Given the description of an element on the screen output the (x, y) to click on. 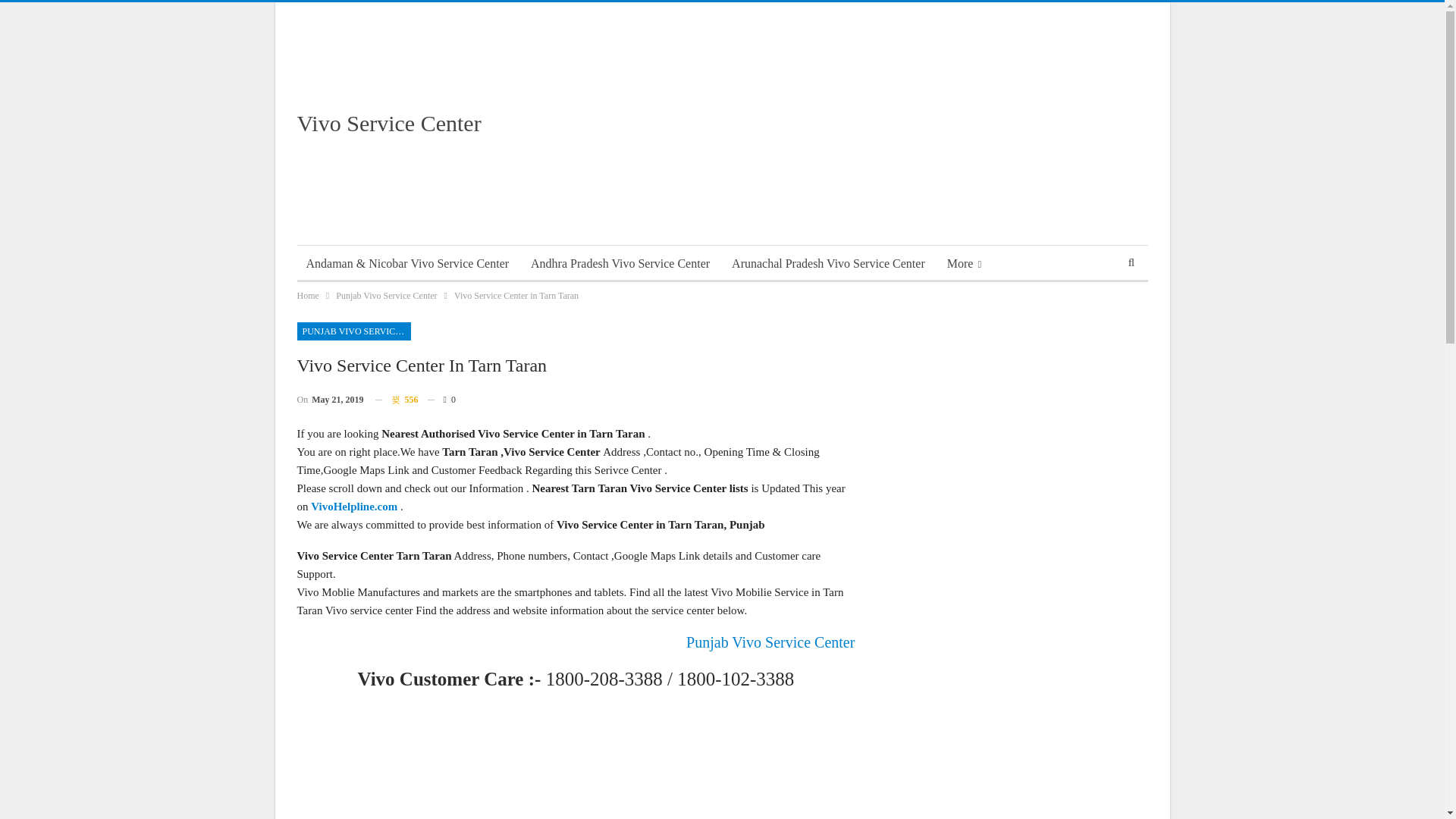
More (963, 263)
Advertisement (870, 123)
Vivo Service Center (389, 122)
Advertisement (576, 759)
Andhra Pradesh Vivo Service Center (620, 263)
Arunachal Pradesh Vivo Service Center (828, 263)
